Given the description of an element on the screen output the (x, y) to click on. 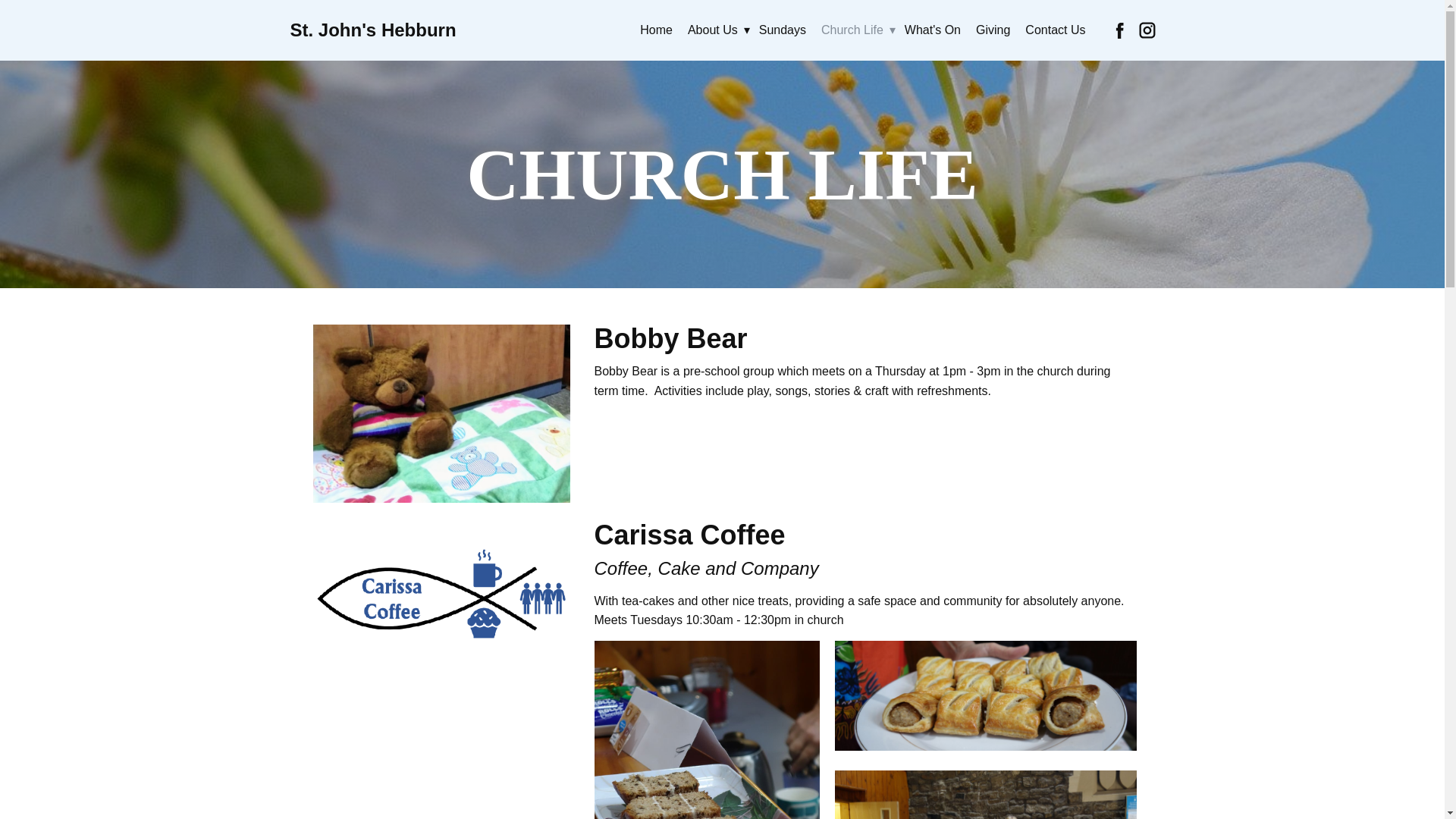
Sundays (782, 30)
Home (655, 30)
What's On (932, 30)
Church Life (854, 30)
About Us (715, 30)
home (372, 29)
St. John's Hebburn (372, 29)
Facebook (1119, 30)
Instagram (1147, 30)
Giving (992, 30)
Contact Us (1055, 30)
